Given the description of an element on the screen output the (x, y) to click on. 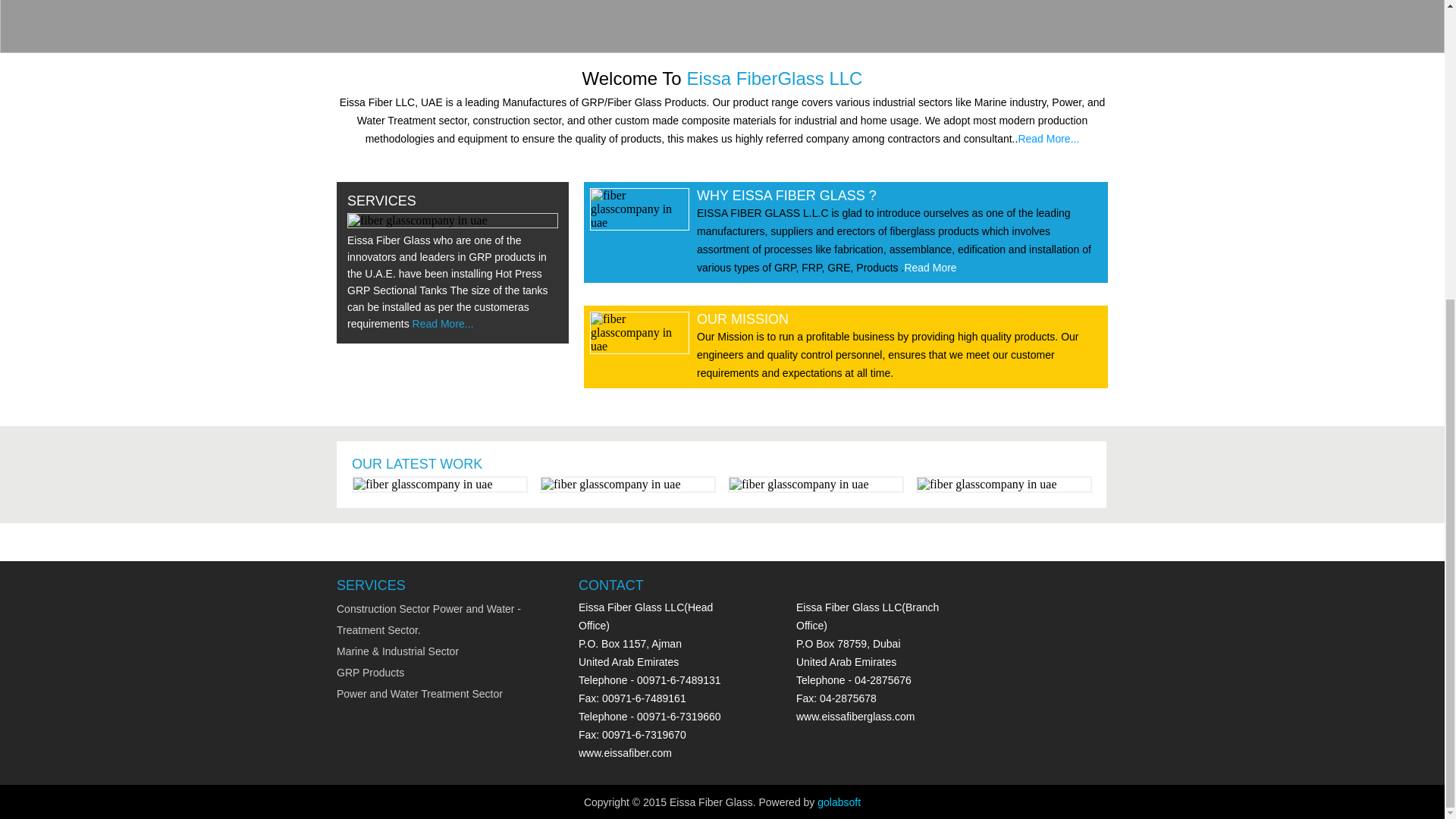
Read More... (443, 323)
golabsoft (838, 802)
Read More... (1047, 138)
Read More (930, 267)
